Given the description of an element on the screen output the (x, y) to click on. 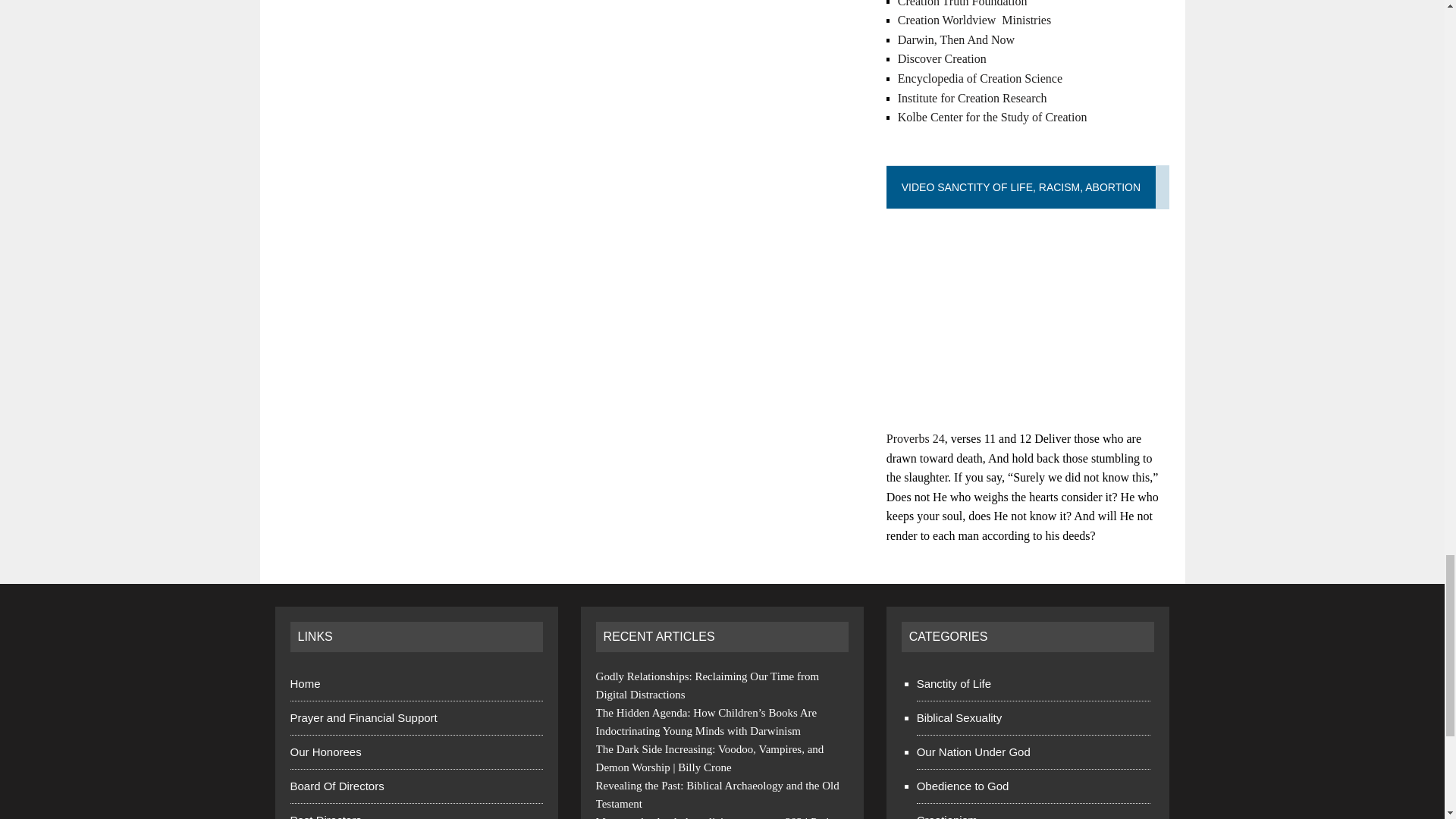
READVERSE Proverbs 24 (915, 438)
